Given the description of an element on the screen output the (x, y) to click on. 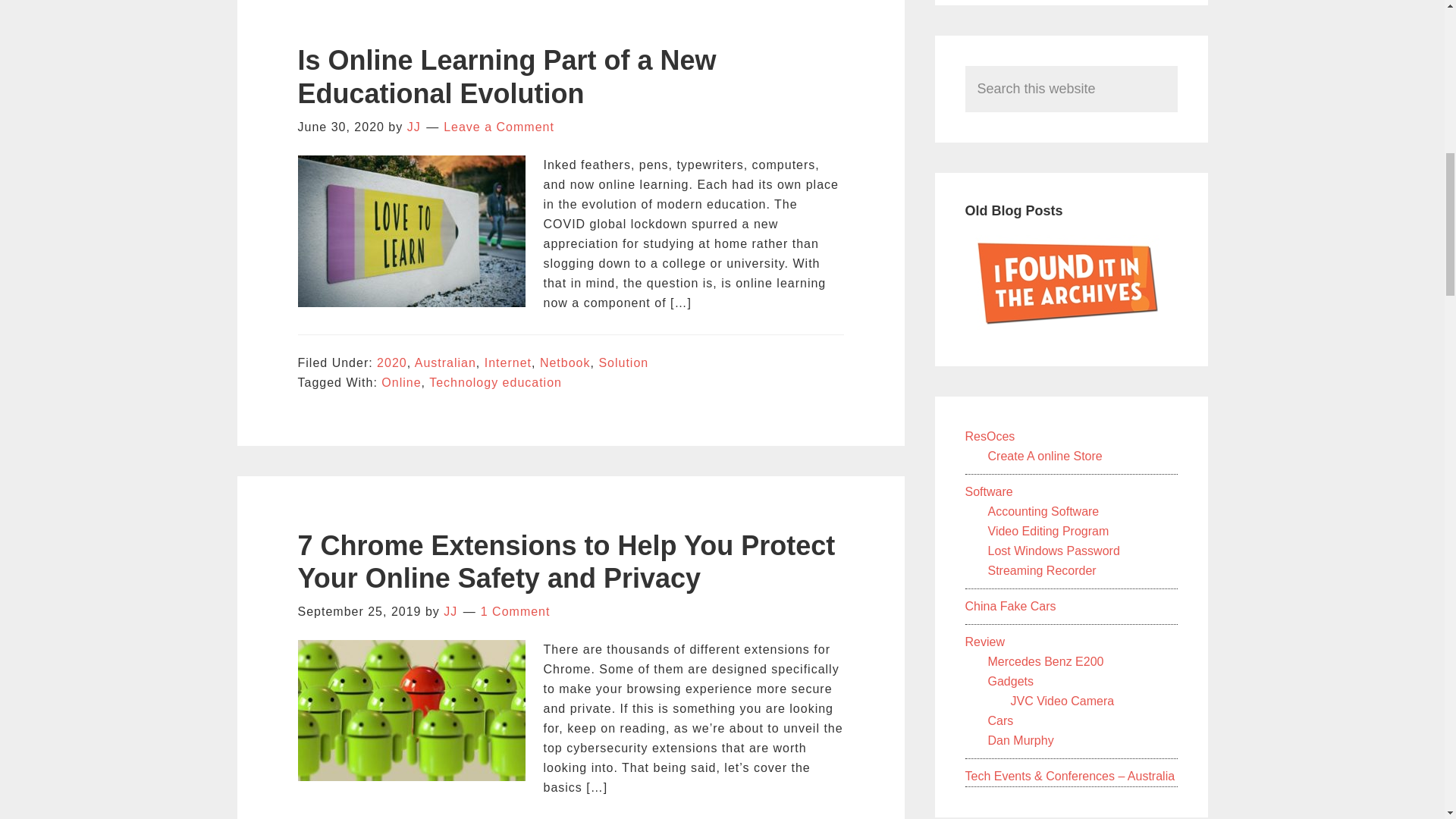
Steps to create an online shop (1044, 455)
Blog Resources (988, 436)
